Given the description of an element on the screen output the (x, y) to click on. 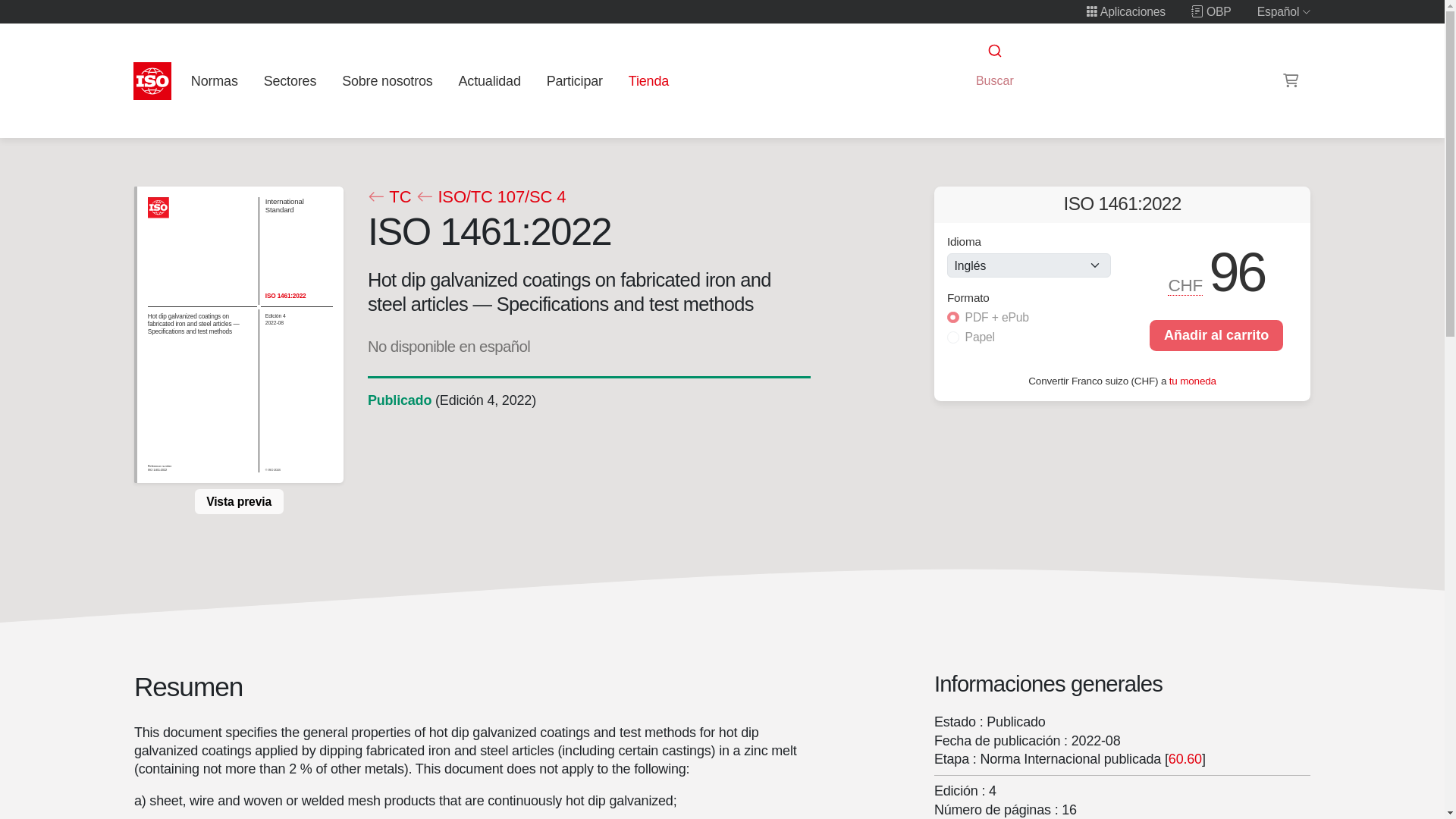
Ciclo de vida (398, 400)
tu moneda (1192, 379)
 Aplicaciones (1126, 11)
Sectores (290, 80)
60.60 (1185, 758)
Sobre nosotros (387, 80)
Publicado (398, 400)
Actualidad (489, 80)
Submit (993, 51)
Tienda (648, 80)
Carro de la compra (1290, 80)
